Given the description of an element on the screen output the (x, y) to click on. 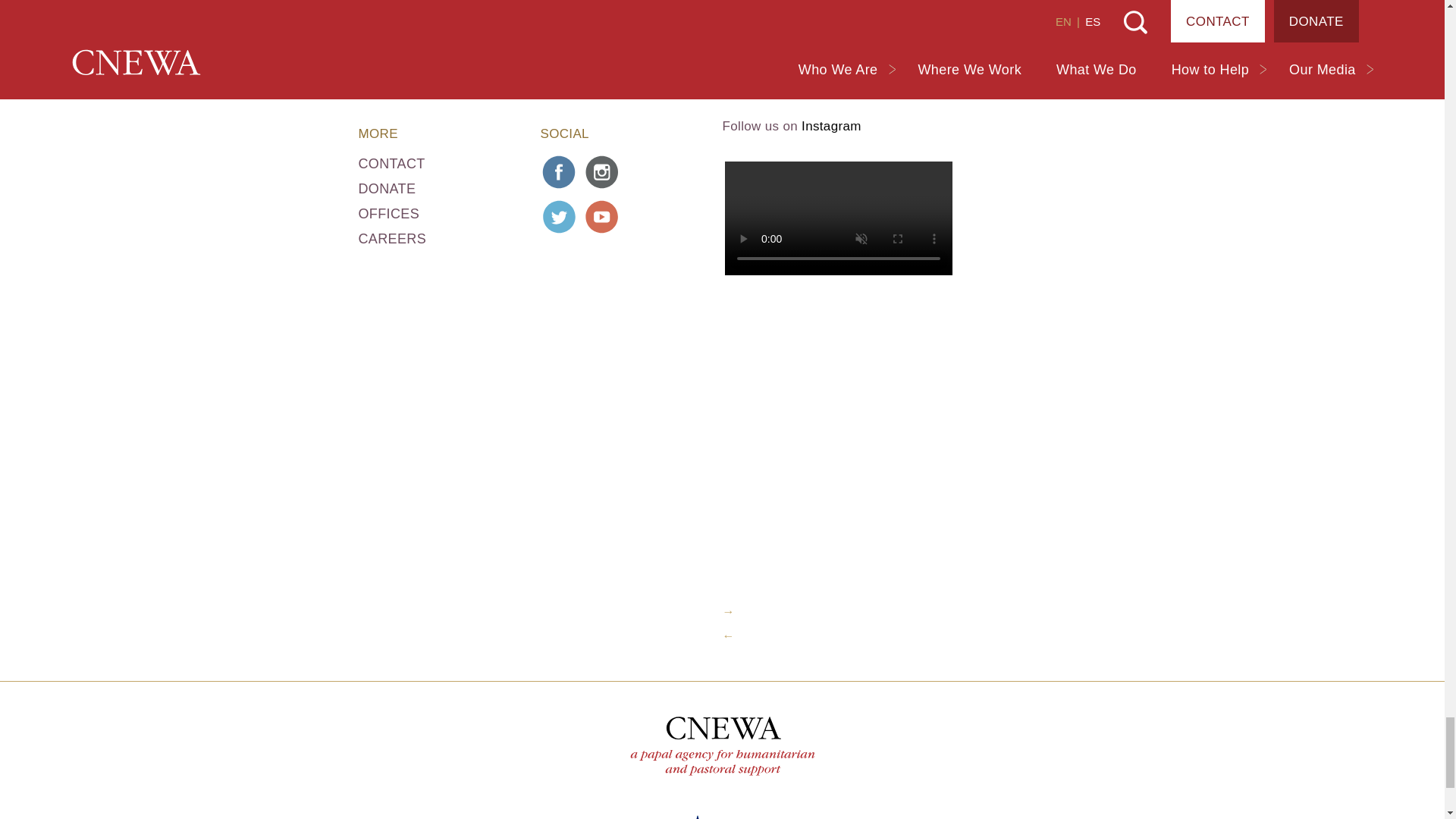
Visit CNEWA on Instgram (602, 171)
Submit (816, 20)
Visit CNEWA on Twitter (559, 216)
Visit CNEWA on Facebook (559, 171)
Visit CNEWA on YouTube (602, 216)
